Given the description of an element on the screen output the (x, y) to click on. 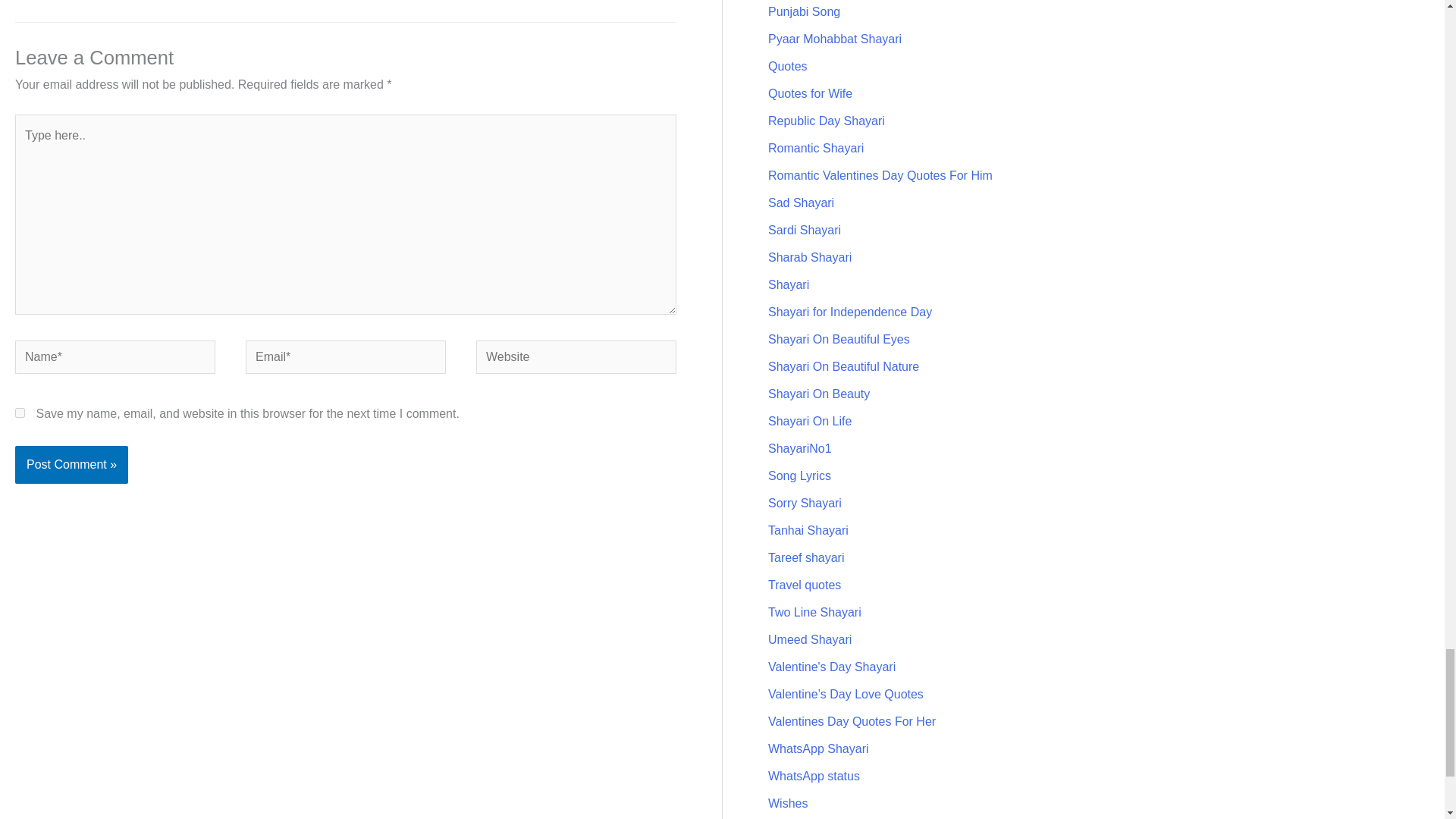
yes (19, 412)
